Given the description of an element on the screen output the (x, y) to click on. 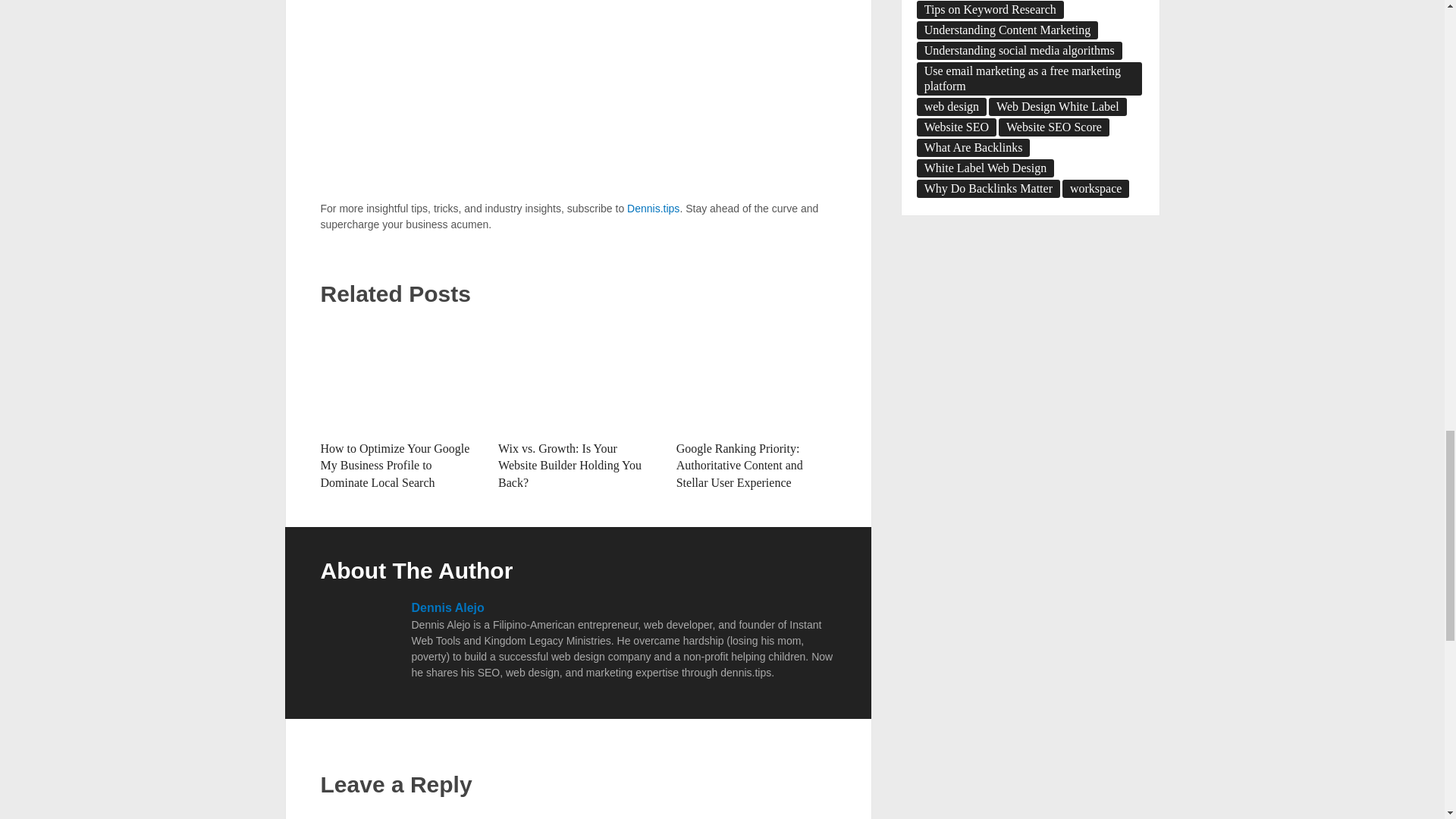
Dennis.tips (653, 208)
Wix vs. Growth: Is Your Website Builder Holding You Back? (577, 376)
Wix vs. Growth: Is Your Website Builder Holding You Back? (569, 465)
Wix vs. Growth: Is Your Website Builder Holding You Back? (569, 465)
